Given the description of an element on the screen output the (x, y) to click on. 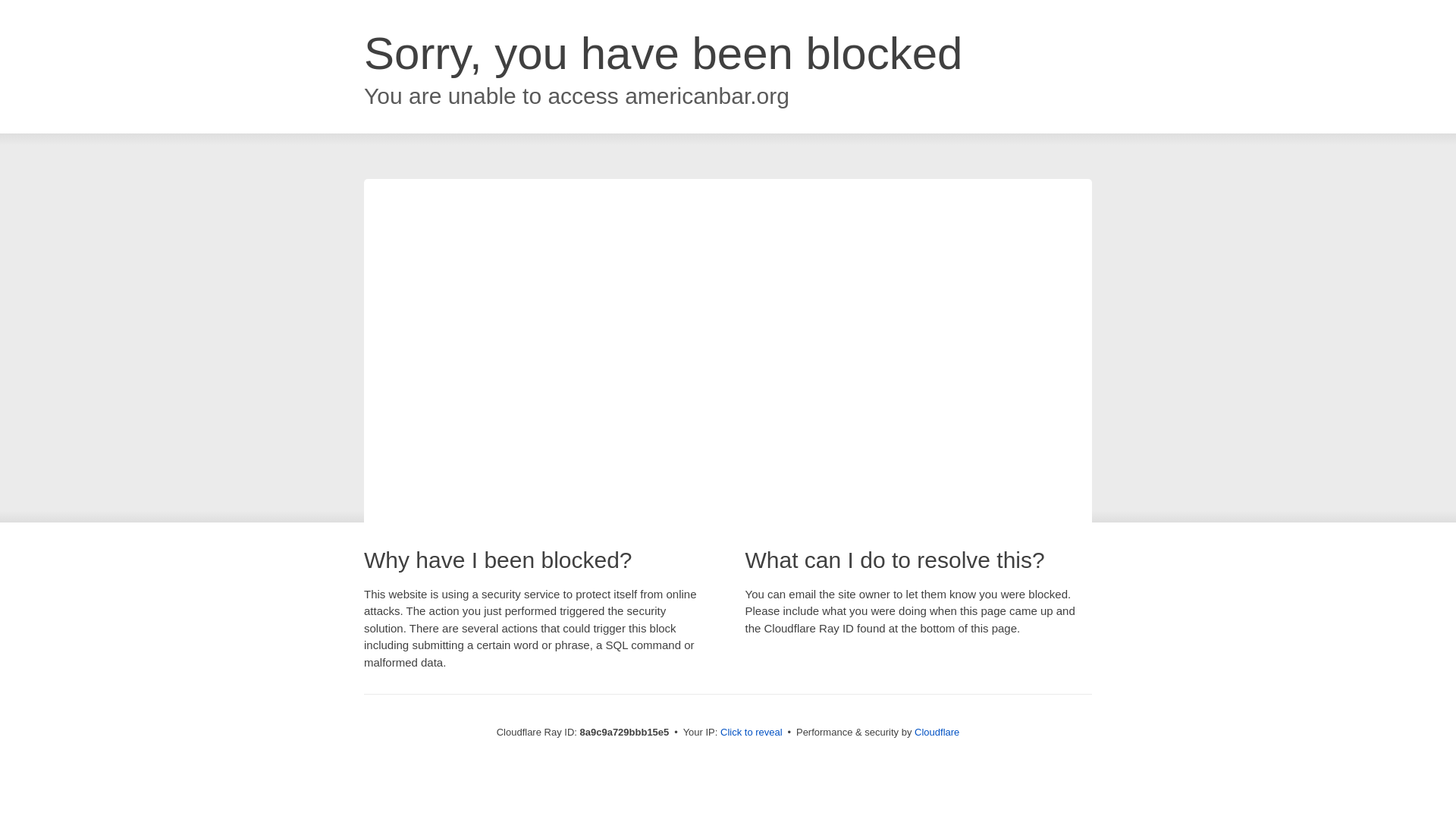
Click to reveal (751, 732)
Cloudflare (936, 731)
